Given the description of an element on the screen output the (x, y) to click on. 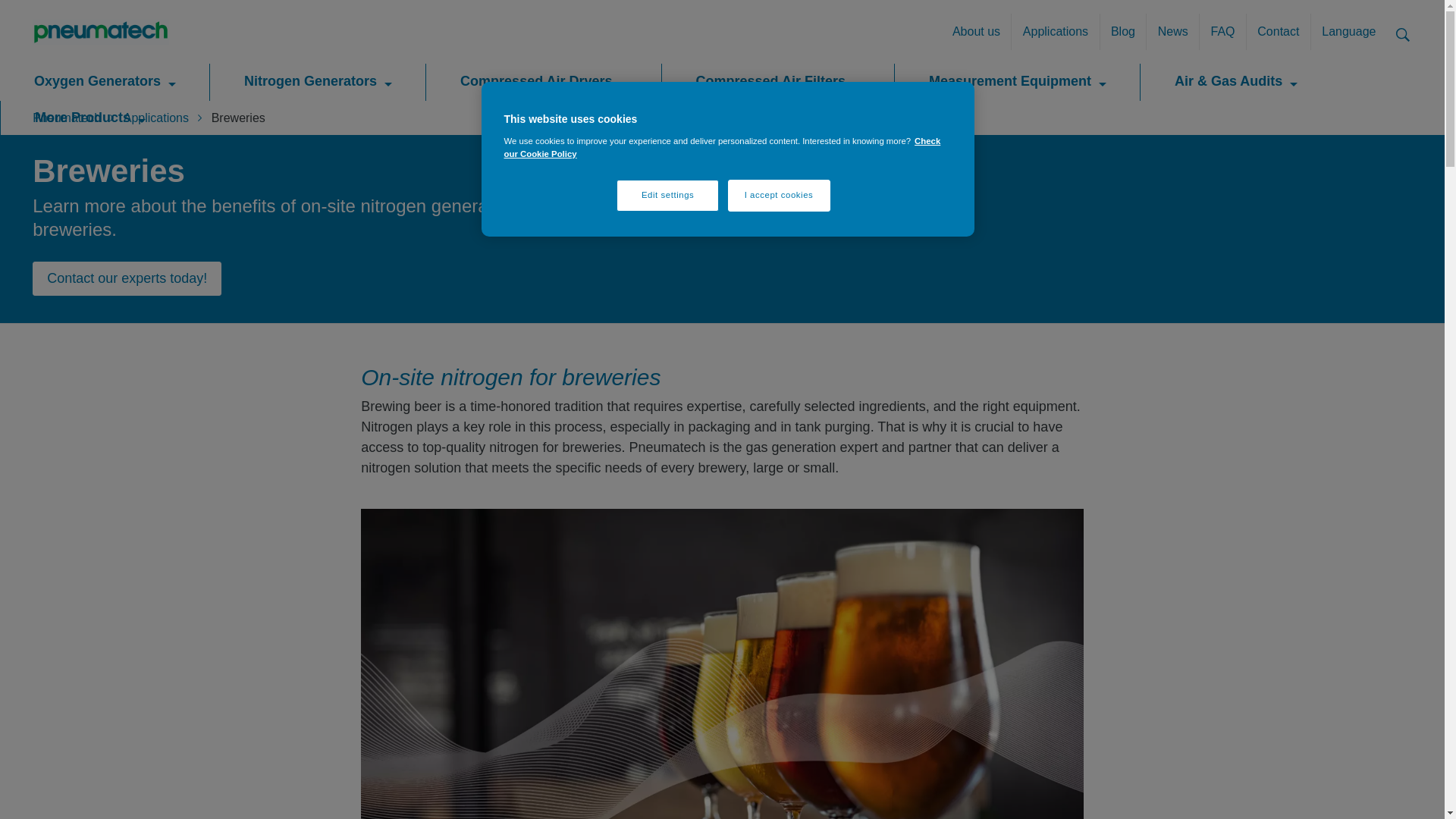
Language (1348, 31)
News (1171, 31)
FAQ (1222, 31)
Blog (1123, 31)
Pneumatech homepage (100, 31)
Applications (1054, 31)
Search (1402, 32)
Contact (1278, 31)
About us (976, 31)
